Given the description of an element on the screen output the (x, y) to click on. 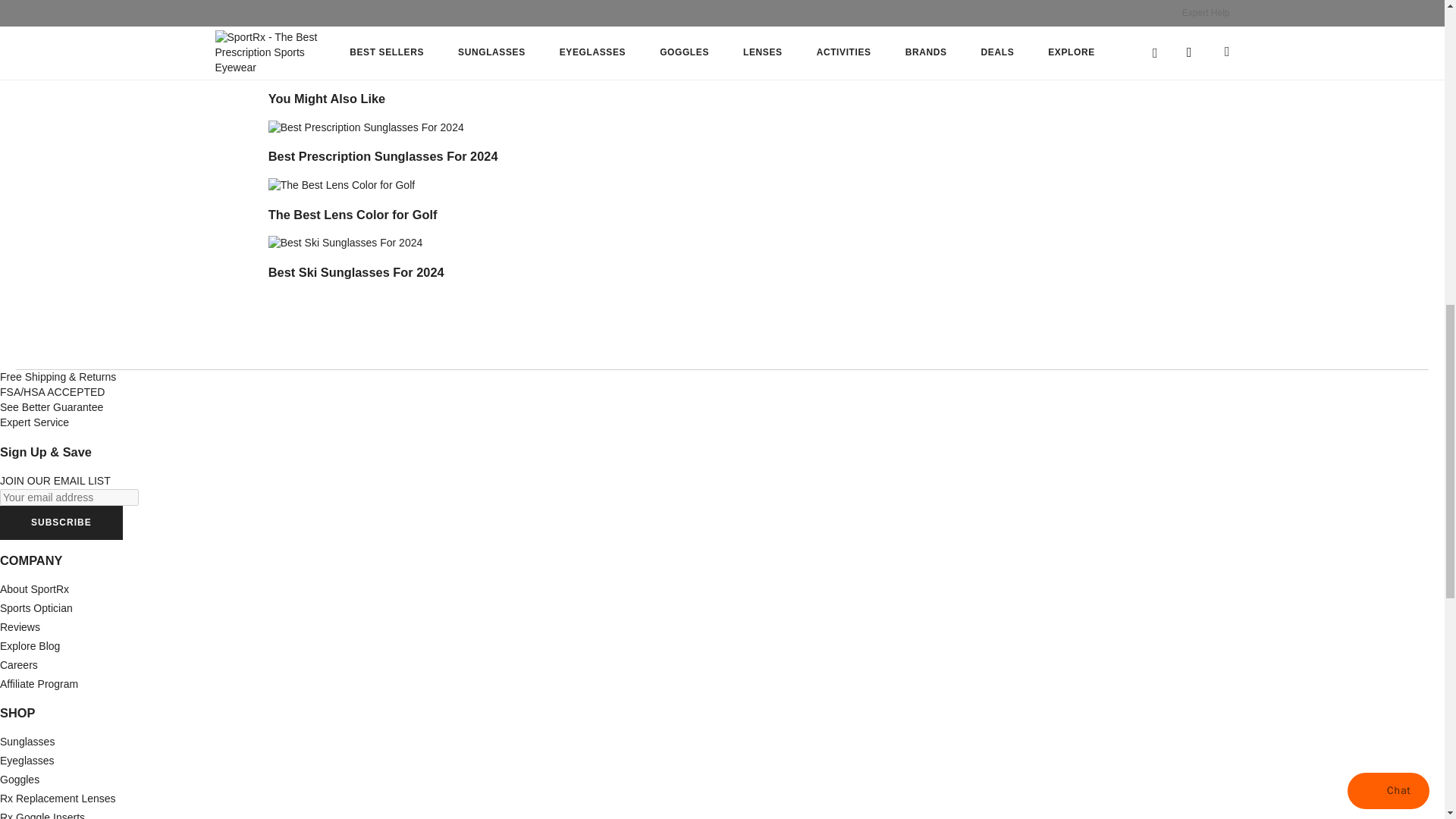
Best Ski Sunglasses For 2024 (345, 242)
Best Prescription Sunglasses For 2024 (365, 127)
The Best Lens Color for Golf (340, 184)
